Given the description of an element on the screen output the (x, y) to click on. 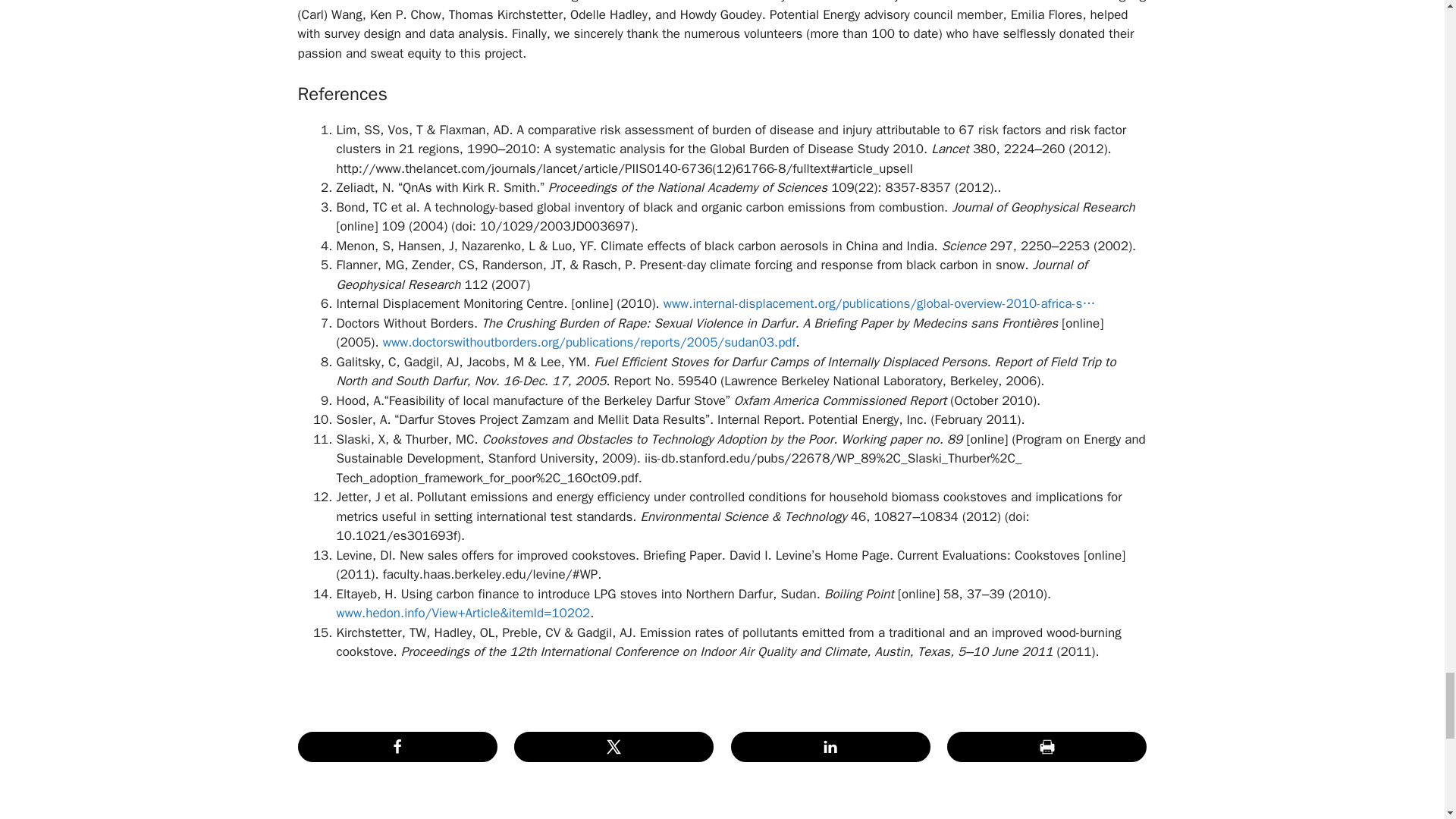
Share on Facebook (396, 747)
Share on X (613, 747)
Print this webpage (1047, 747)
Share on LinkedIn (830, 747)
